Given the description of an element on the screen output the (x, y) to click on. 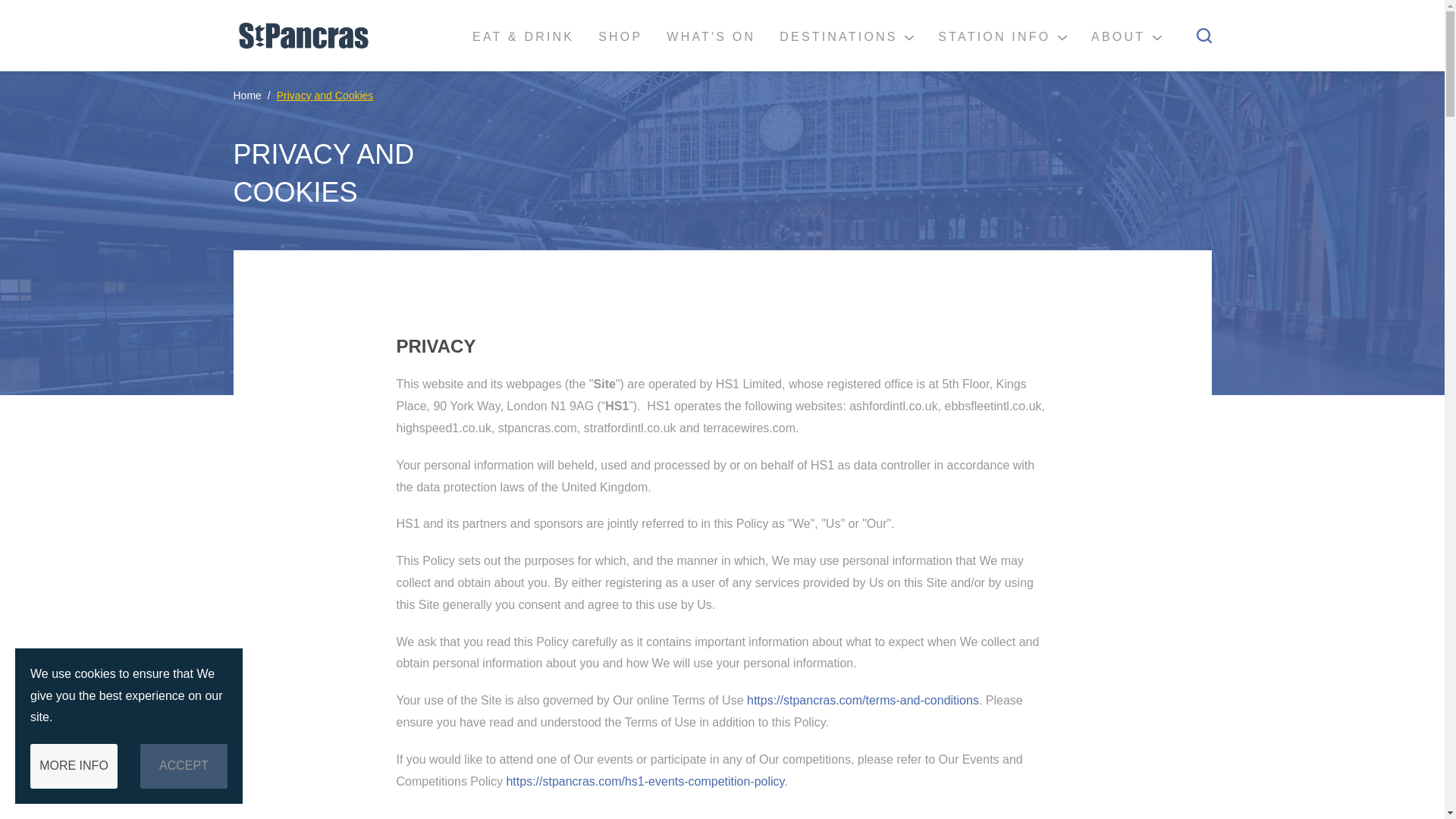
Home (247, 95)
STATION INFO (1002, 36)
SHOP (619, 36)
WHAT'S ON (710, 36)
DESTINATIONS (846, 36)
Return to St Pancras International homepage (300, 35)
ABOUT (1125, 36)
Toggle site search (1203, 35)
